Given the description of an element on the screen output the (x, y) to click on. 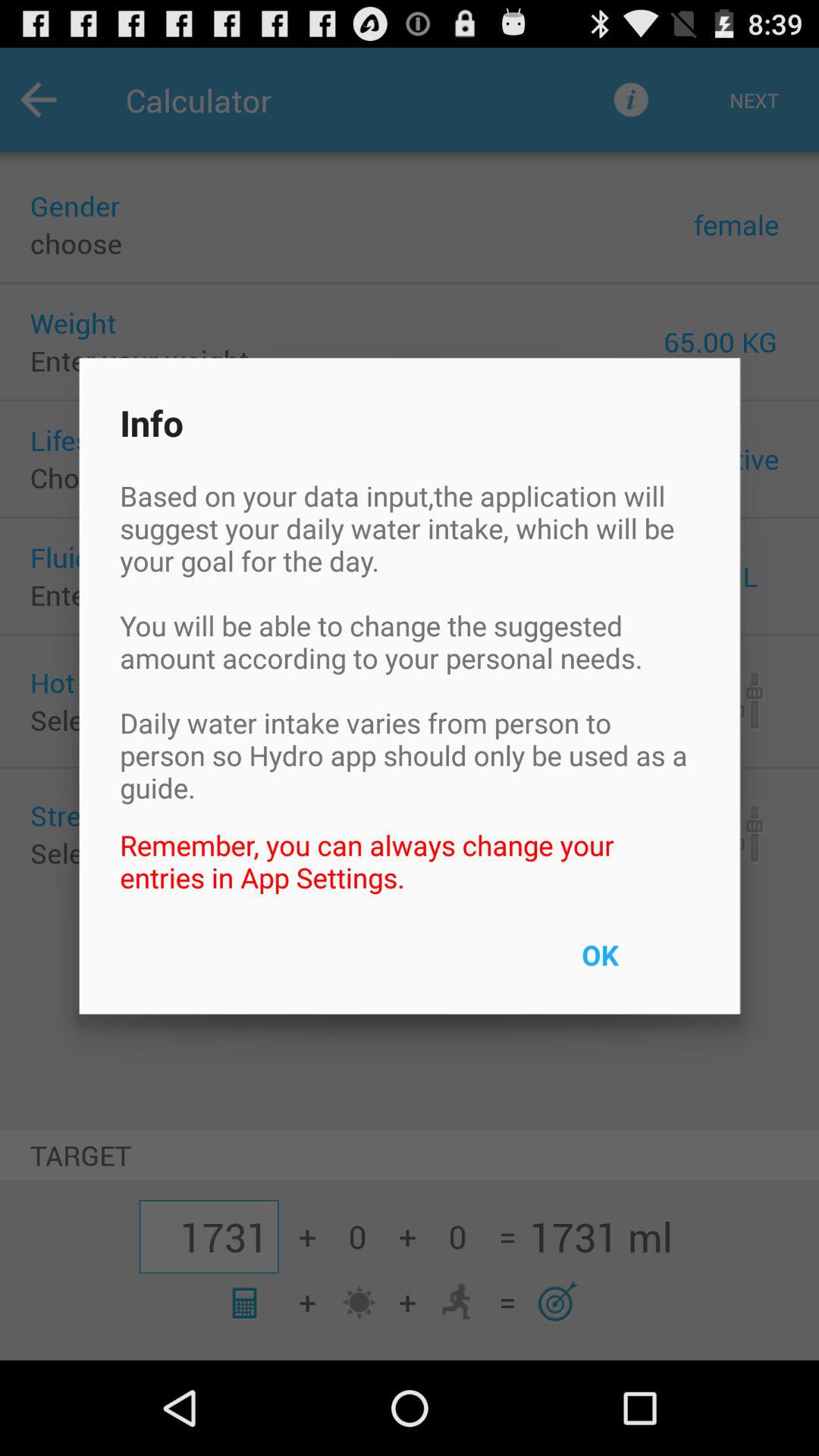
open item below the remember you can icon (634, 964)
